Given the description of an element on the screen output the (x, y) to click on. 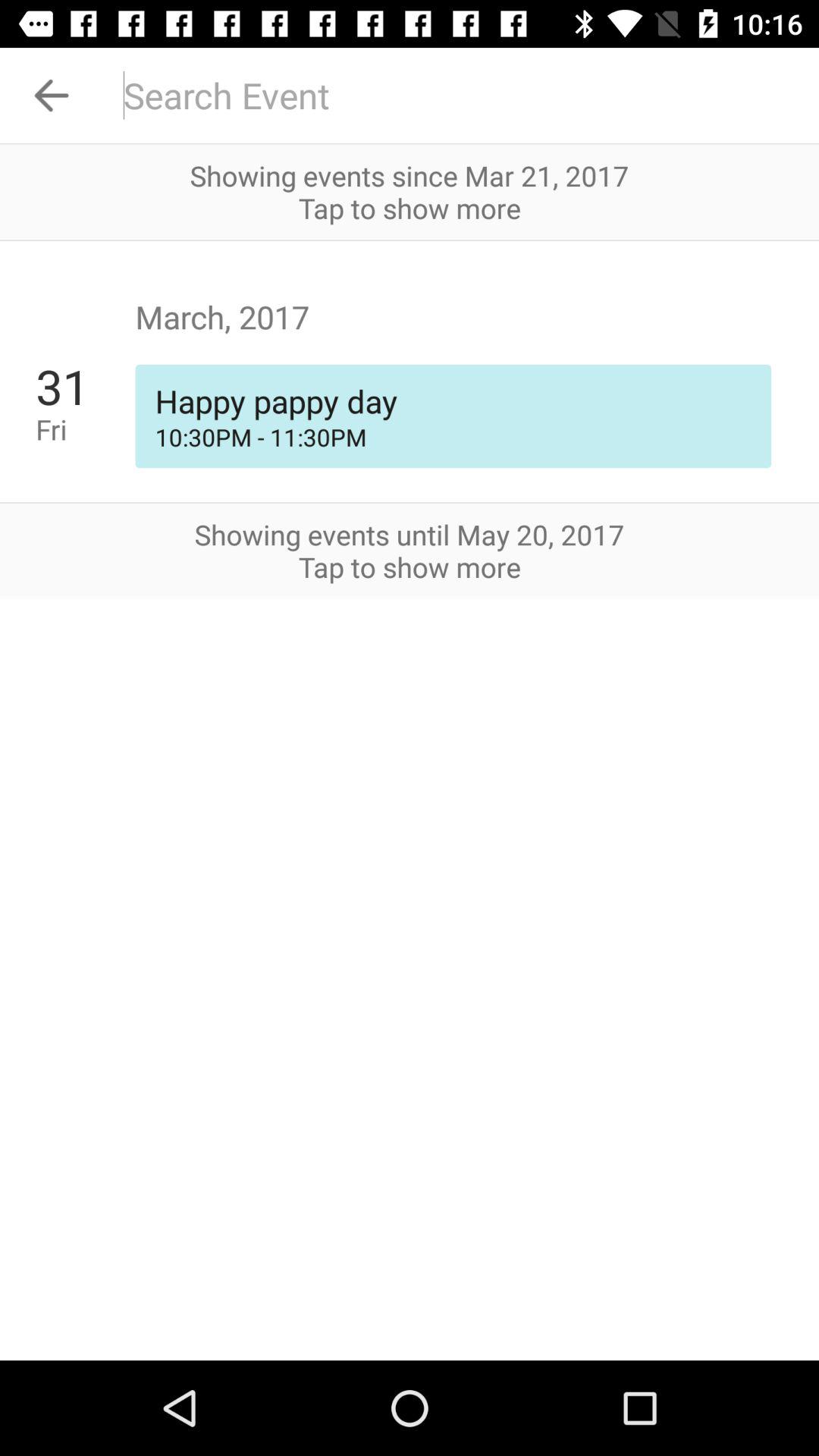
choose the icon below march, 2017 app (85, 386)
